Given the description of an element on the screen output the (x, y) to click on. 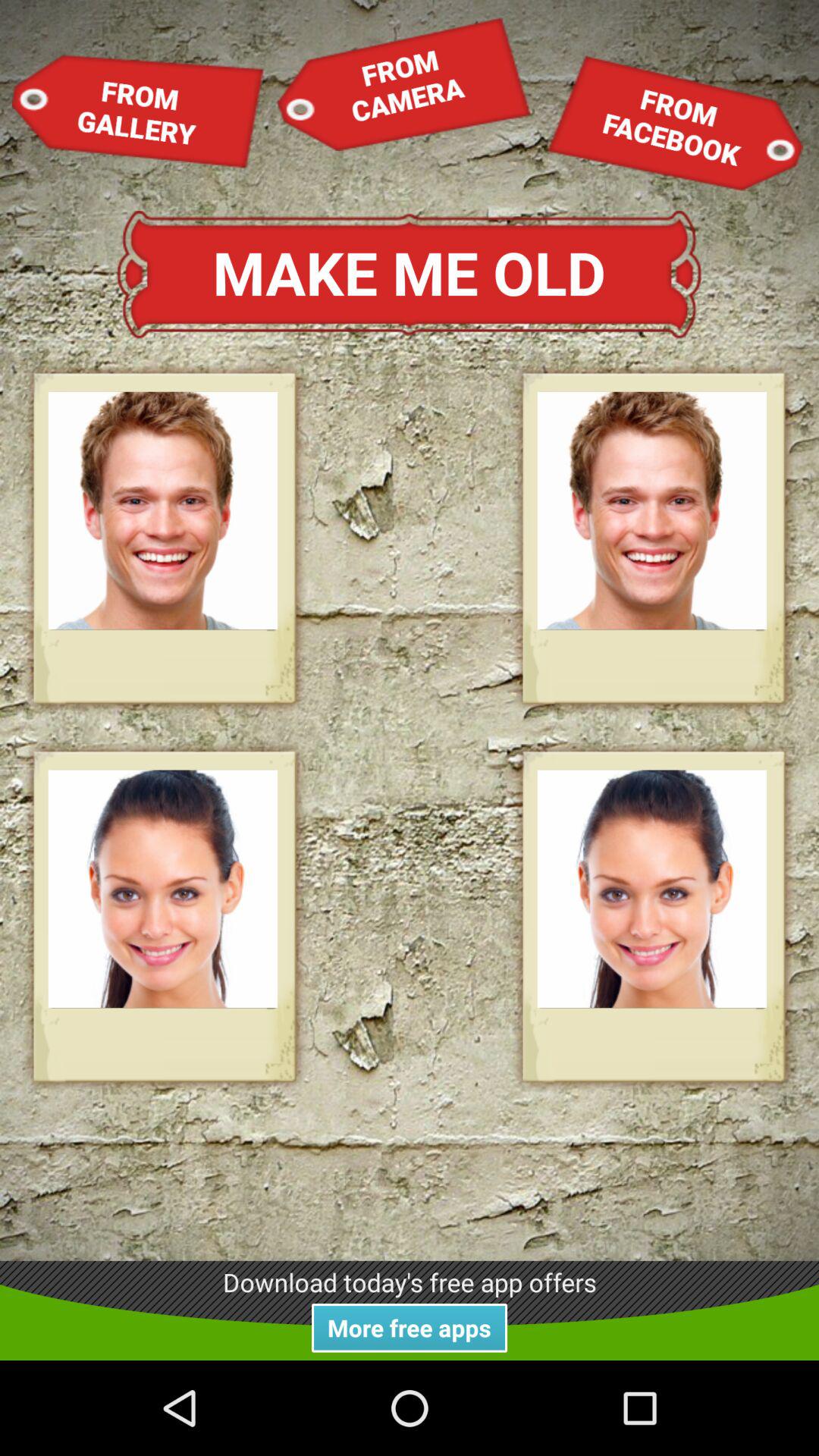
launch item to the right of the from
camera icon (675, 123)
